Given the description of an element on the screen output the (x, y) to click on. 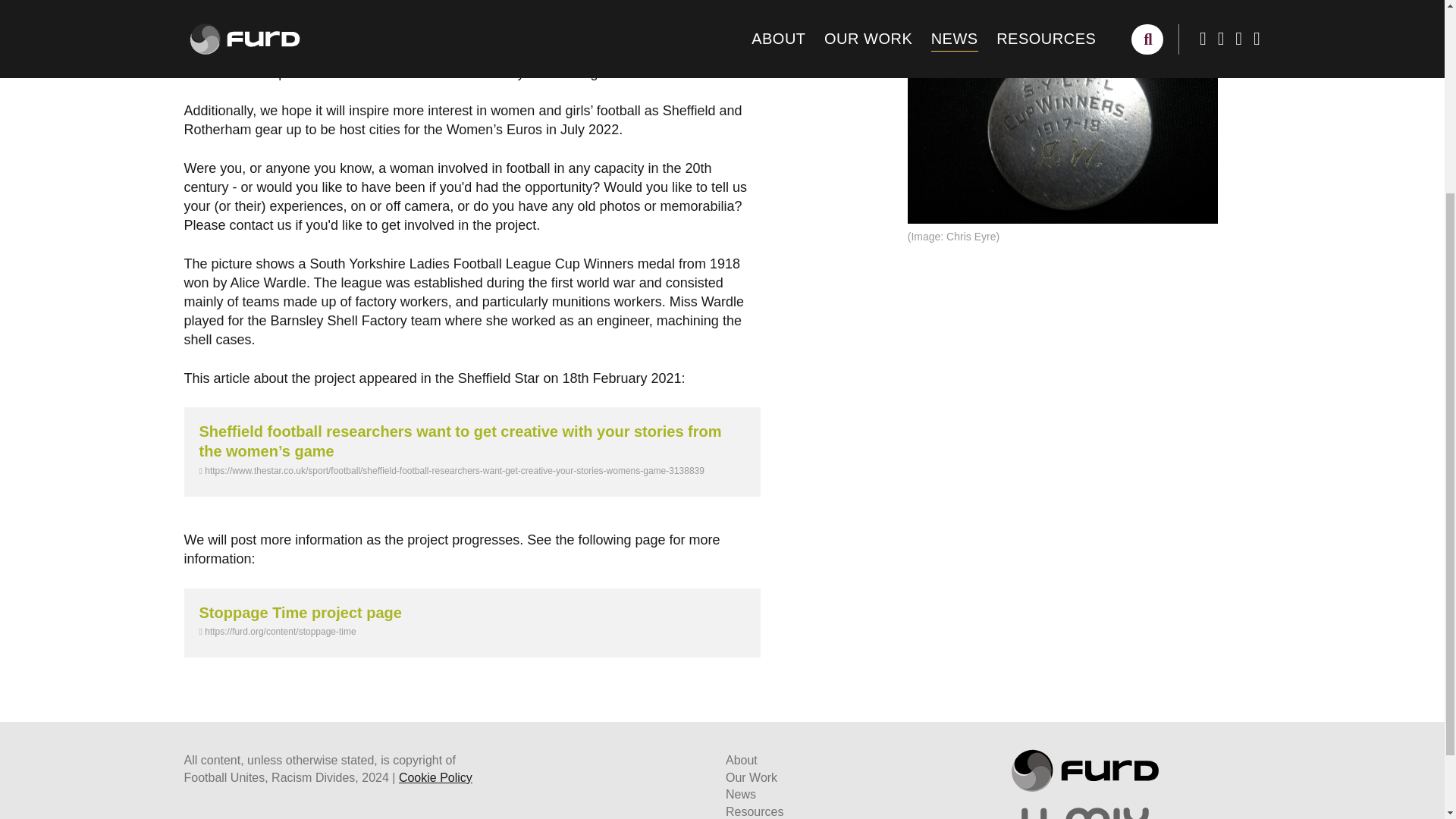
Resources (754, 811)
Our Work (751, 777)
Stoppage Time project page (299, 612)
News (740, 793)
Cookie Policy (434, 777)
About (741, 759)
News (740, 793)
Our Work (751, 777)
About (741, 759)
Resources (754, 811)
